Given the description of an element on the screen output the (x, y) to click on. 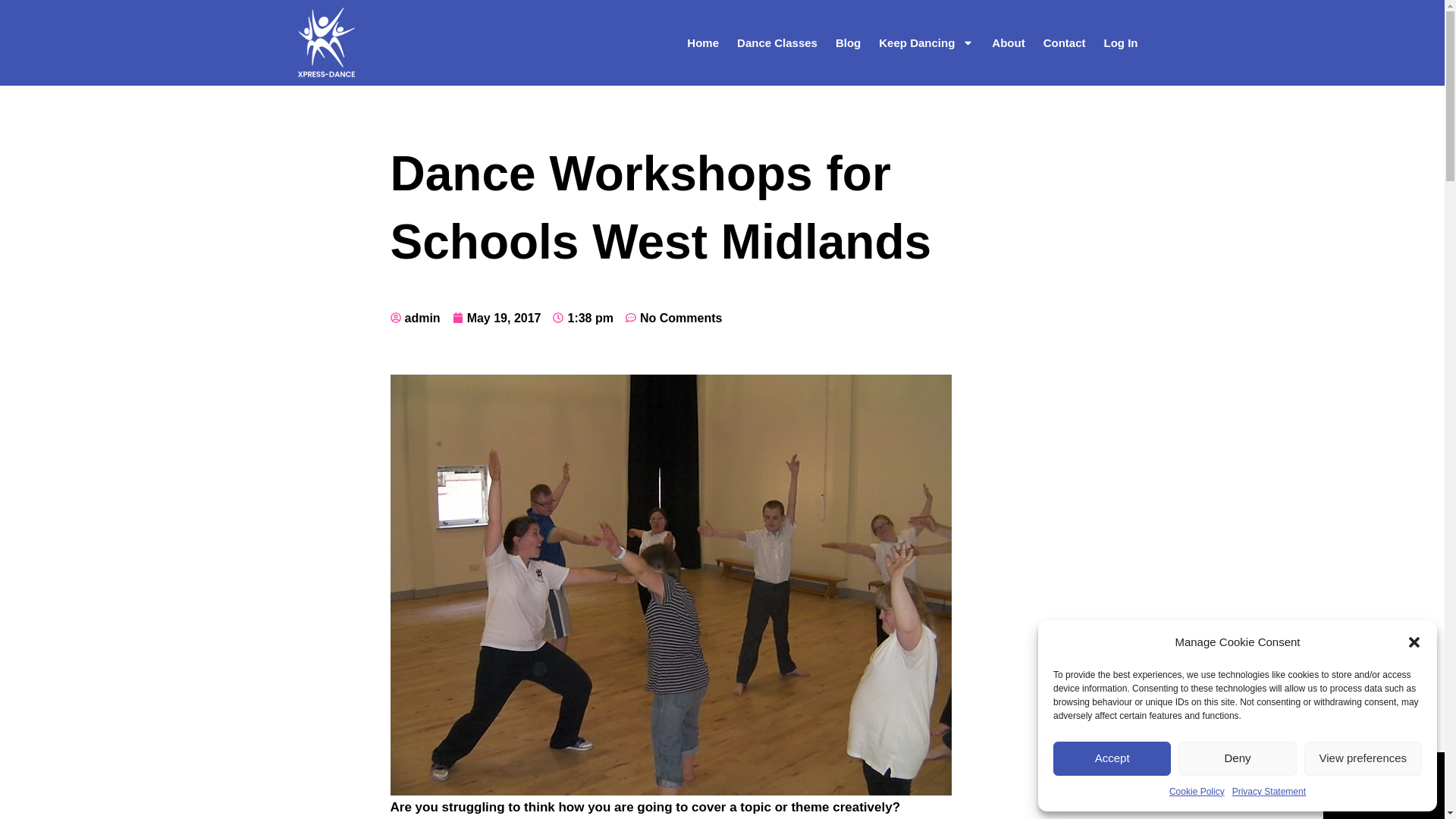
Accept (1111, 758)
Log In (1120, 42)
Dance Classes (777, 42)
Deny (1236, 758)
Privacy Statement (1268, 791)
Contact (1063, 42)
About (1007, 42)
View preferences (1363, 758)
Cookie Policy (1196, 791)
Home (703, 42)
Blog (848, 42)
Keep Dancing (925, 42)
